Given the description of an element on the screen output the (x, y) to click on. 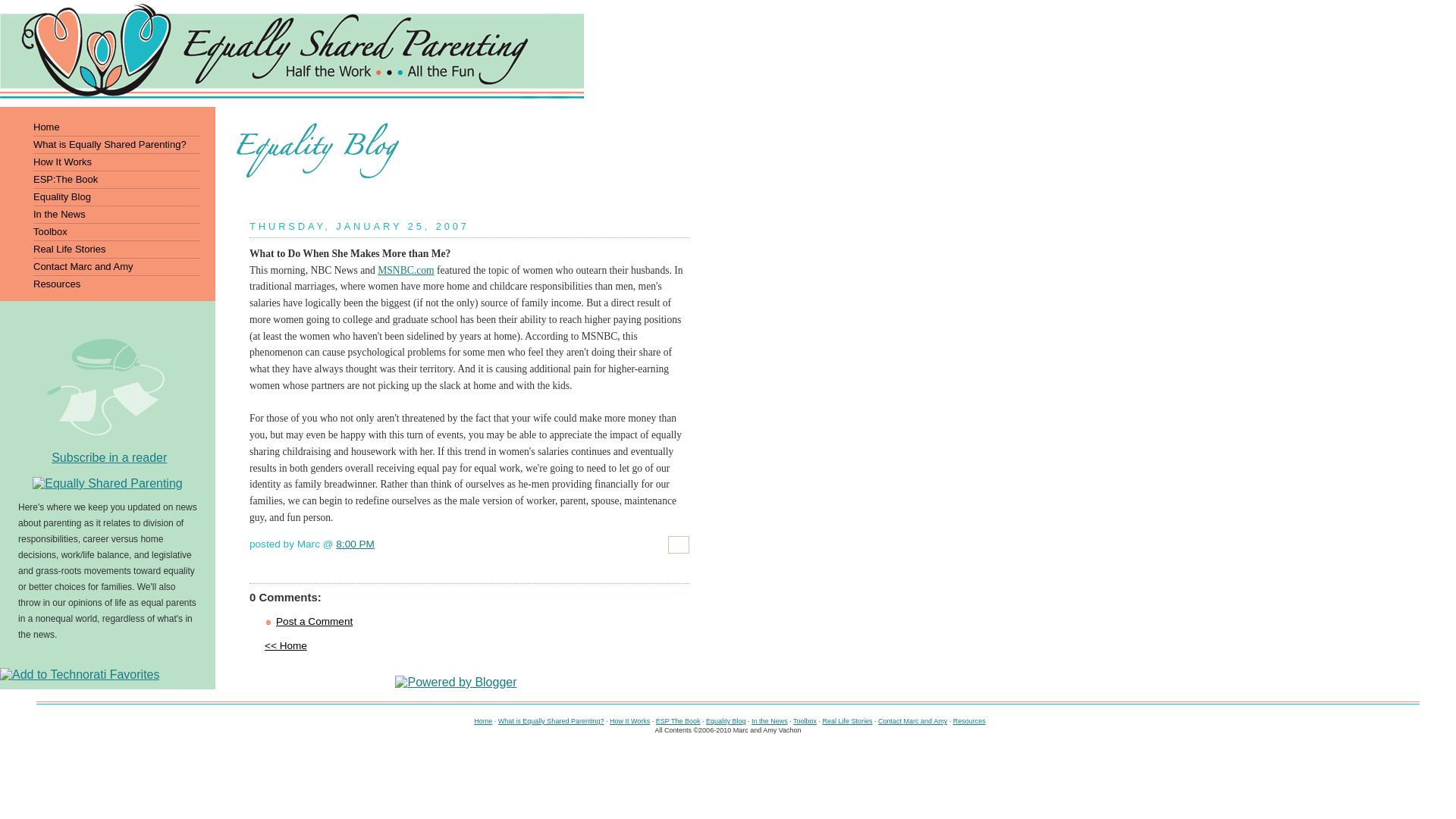
Equality Blog (725, 720)
Contact Marc and Amy (104, 266)
ESP:The Book (104, 179)
Subscribe in a reader (108, 457)
Home (104, 126)
Equality Blog (725, 720)
Primer on parental equality (550, 720)
Real Life Stories (104, 248)
ESP The Book (678, 720)
Equality Blog (104, 196)
